Given the description of an element on the screen output the (x, y) to click on. 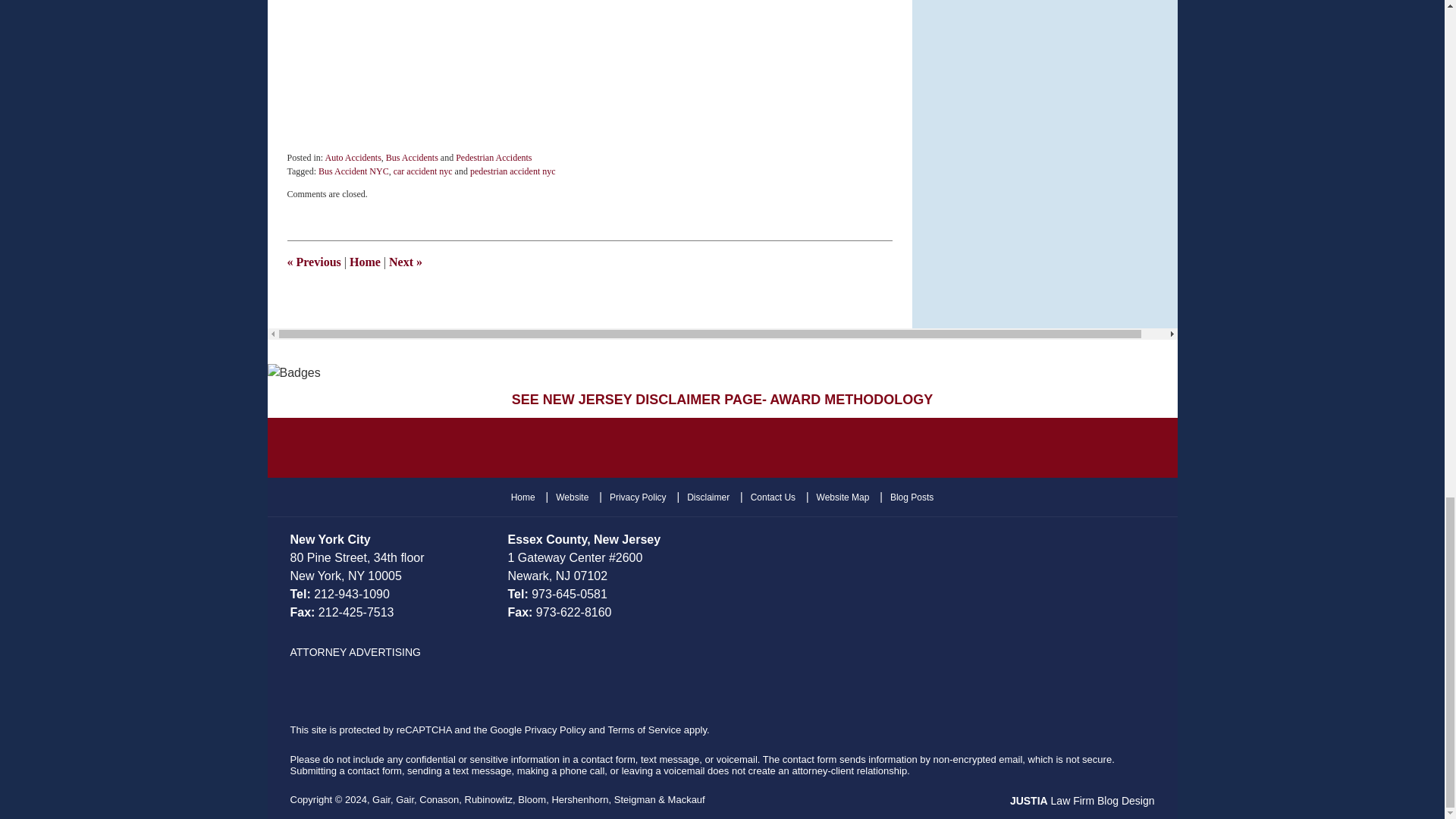
Auto Accidents (352, 157)
Bus Accident NYC (353, 171)
Bus Accidents (411, 157)
4 people injured in NYC Sanitation truck accident (405, 261)
Home (364, 261)
Pedestrian Accidents (493, 157)
car accident nyc (422, 171)
View all posts tagged with Bus Accident NYC (353, 171)
View all posts tagged with car accident nyc (422, 171)
pedestrian accident nyc (513, 171)
View all posts in Pedestrian Accidents (493, 157)
View all posts in Bus Accidents (411, 157)
View all posts in Auto Accidents (352, 157)
View all posts tagged with pedestrian accident nyc (513, 171)
